Given the description of an element on the screen output the (x, y) to click on. 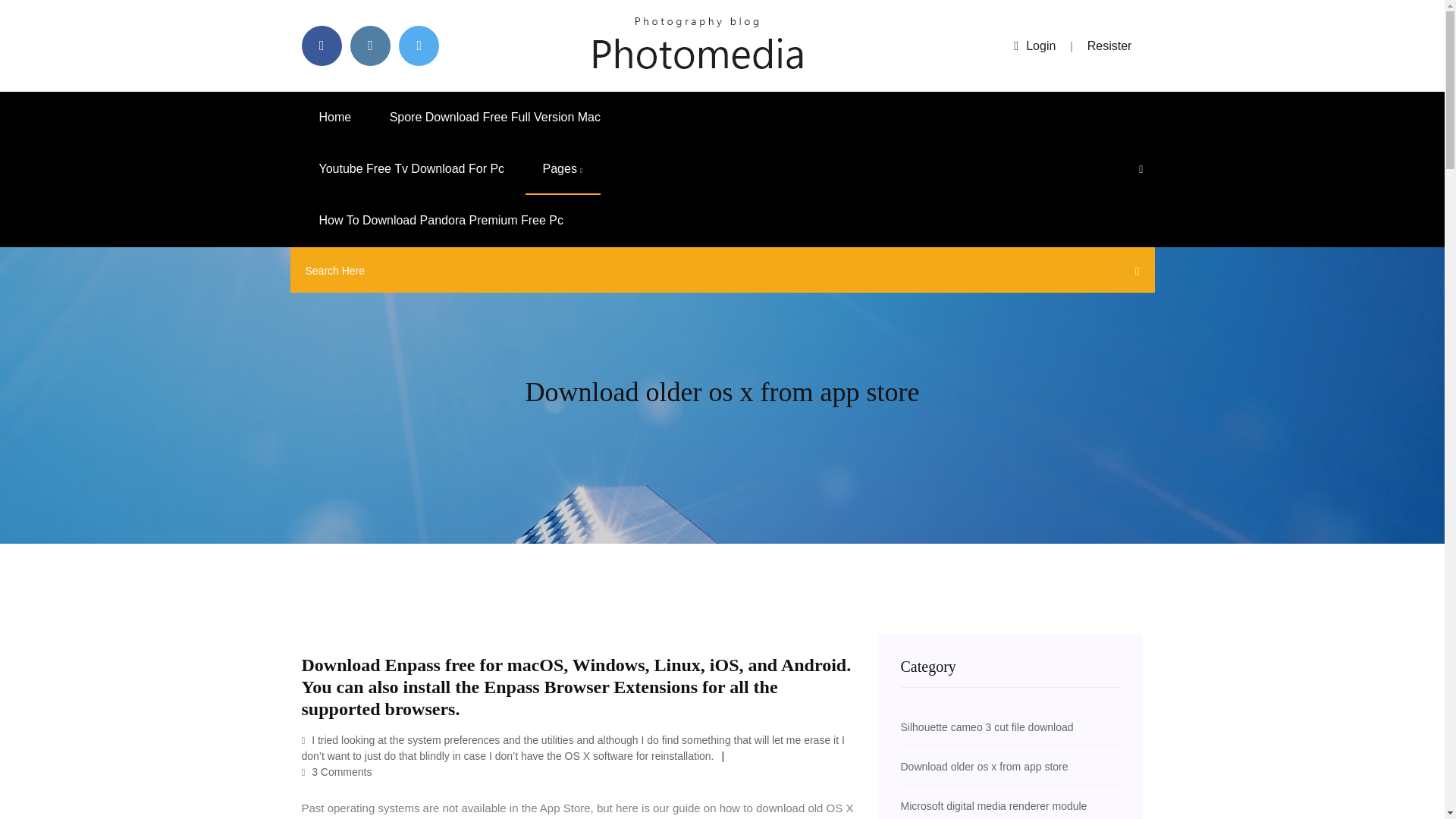
3 Comments (336, 771)
Spore Download Free Full Version Mac (494, 117)
Youtube Free Tv Download For Pc (411, 168)
Home (335, 117)
How To Download Pandora Premium Free Pc (440, 220)
Pages (562, 168)
Resister (1109, 45)
Login (1034, 45)
